Given the description of an element on the screen output the (x, y) to click on. 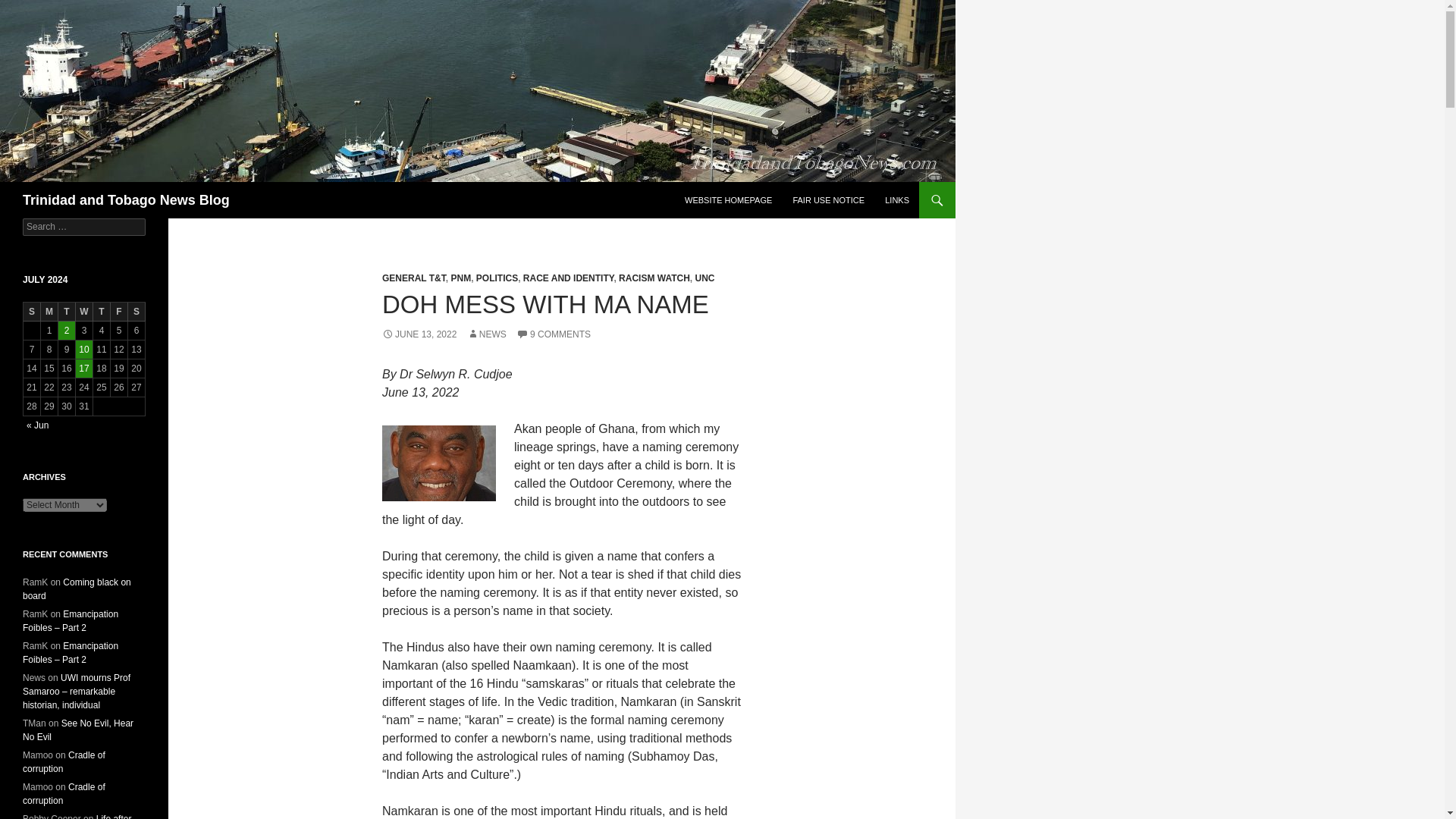
Tuesday (66, 311)
Monday (49, 311)
Friday (119, 311)
JUNE 13, 2022 (419, 334)
9 COMMENTS (553, 334)
RACE AND IDENTITY (568, 277)
LINKS (897, 199)
PNM (459, 277)
FAIR USE NOTICE (828, 199)
WEBSITE HOMEPAGE (727, 199)
Thursday (101, 311)
Sunday (31, 311)
POLITICS (497, 277)
